Given the description of an element on the screen output the (x, y) to click on. 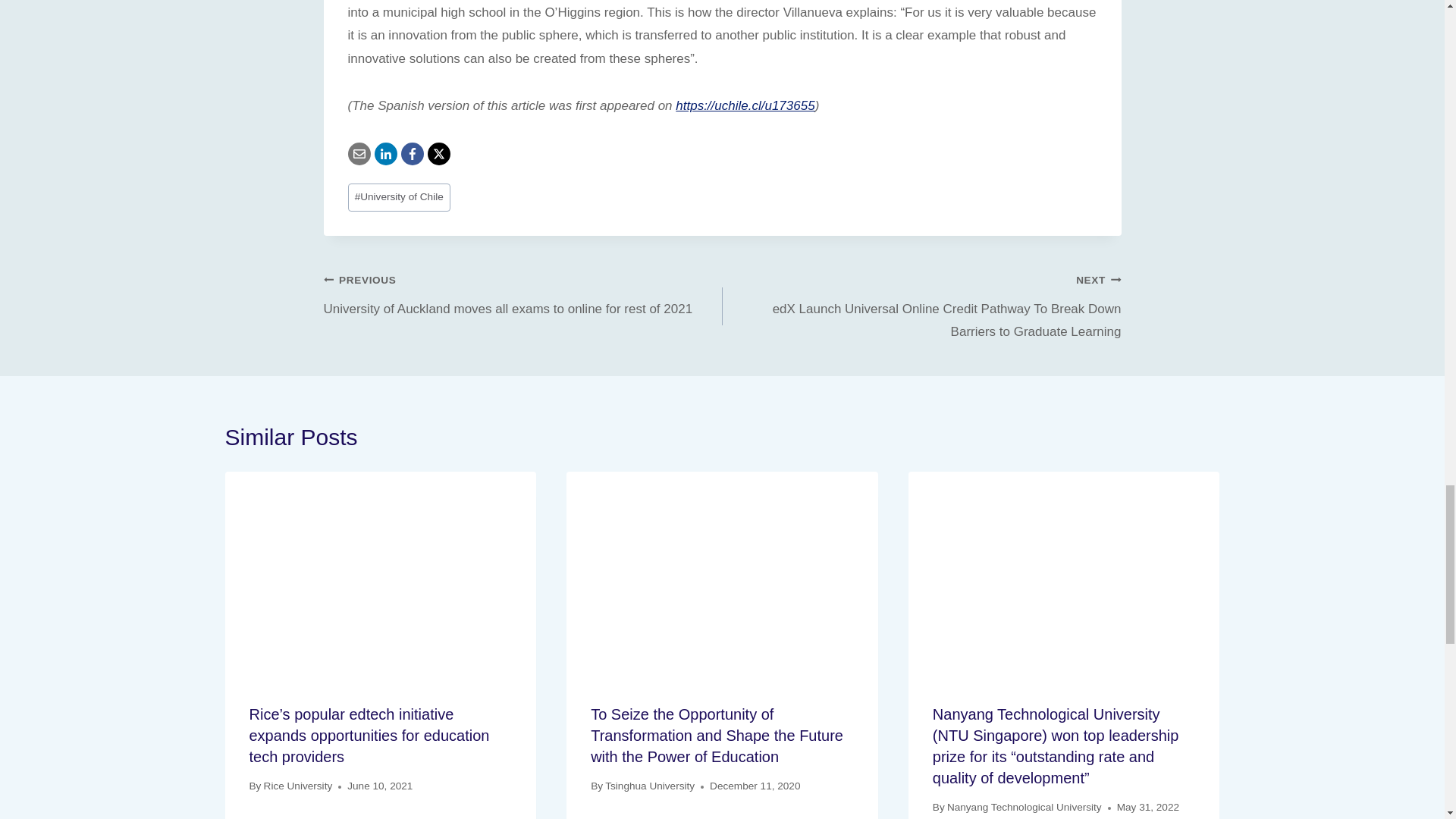
University of Chile (398, 197)
Tsinghua University (649, 785)
Rice University (298, 785)
